Given the description of an element on the screen output the (x, y) to click on. 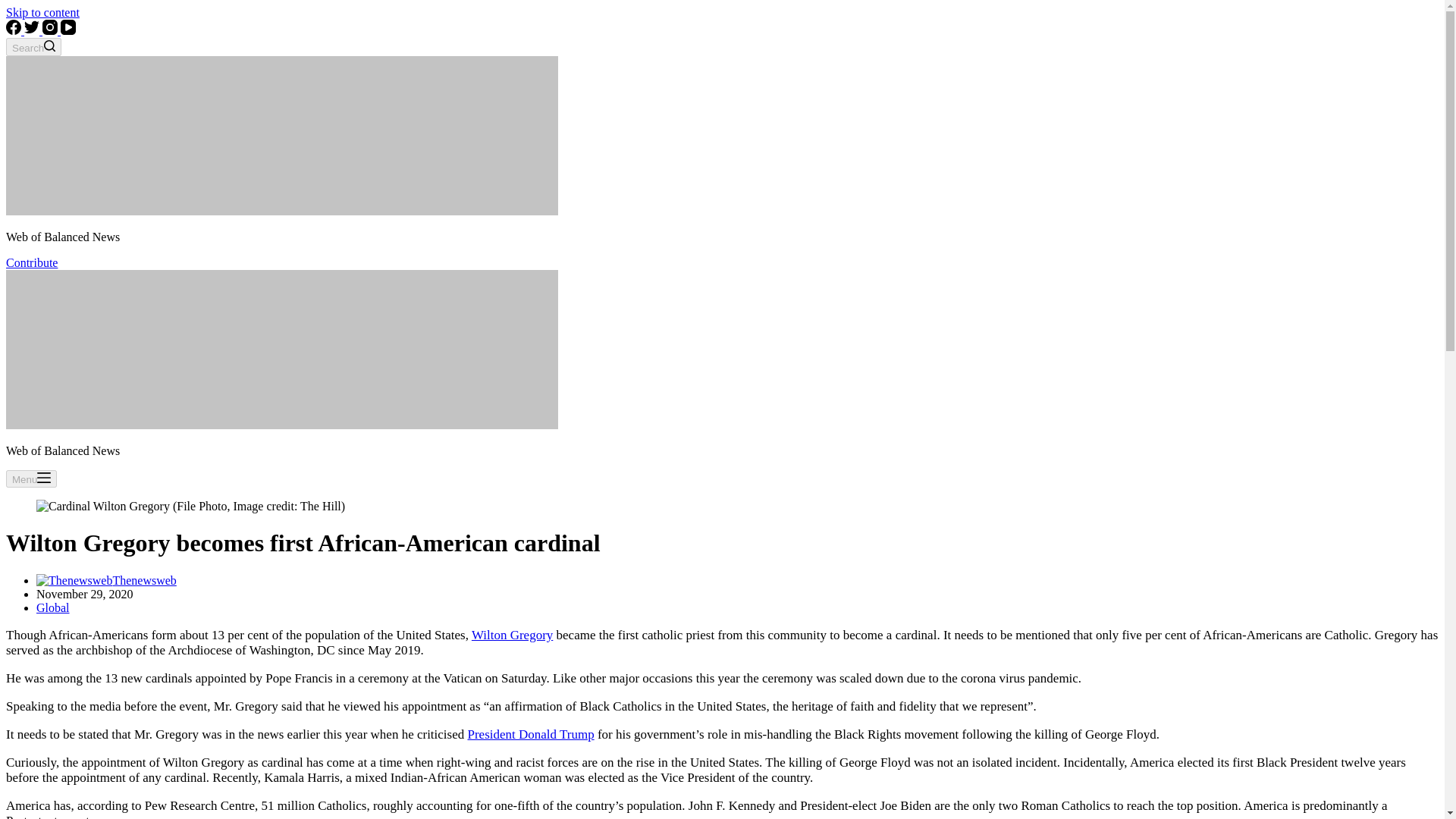
Contribute (31, 262)
Skip to content (42, 11)
Search header icon (49, 45)
President Donald Trump (530, 734)
Menu (30, 478)
Global (52, 607)
Wilton Gregory (512, 635)
Posts by Thenewsweb (144, 580)
Thenewsweb (144, 580)
SearchSearch header icon (33, 46)
